Given the description of an element on the screen output the (x, y) to click on. 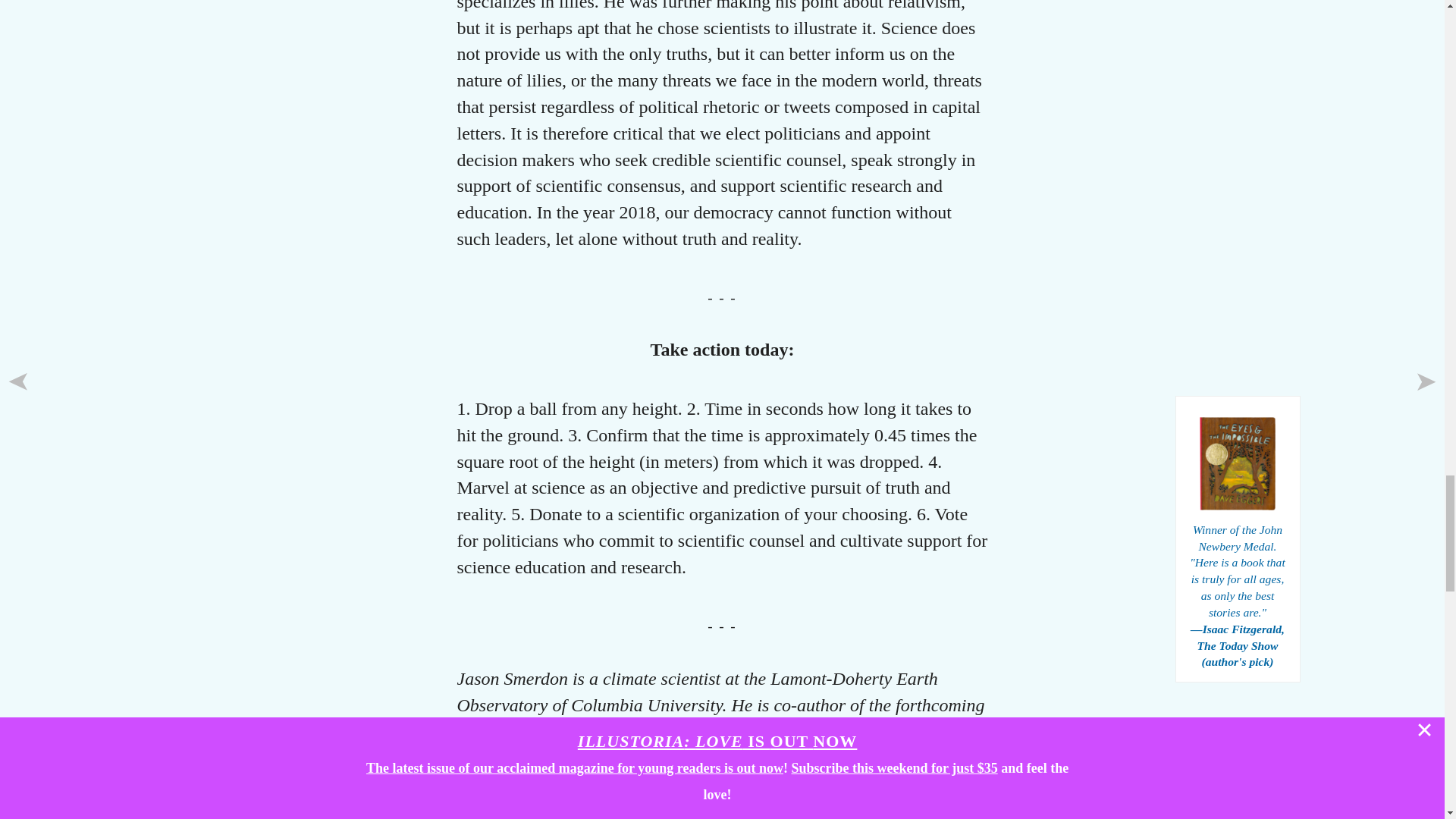
Election 2018 (529, 812)
Science (592, 812)
